Given the description of an element on the screen output the (x, y) to click on. 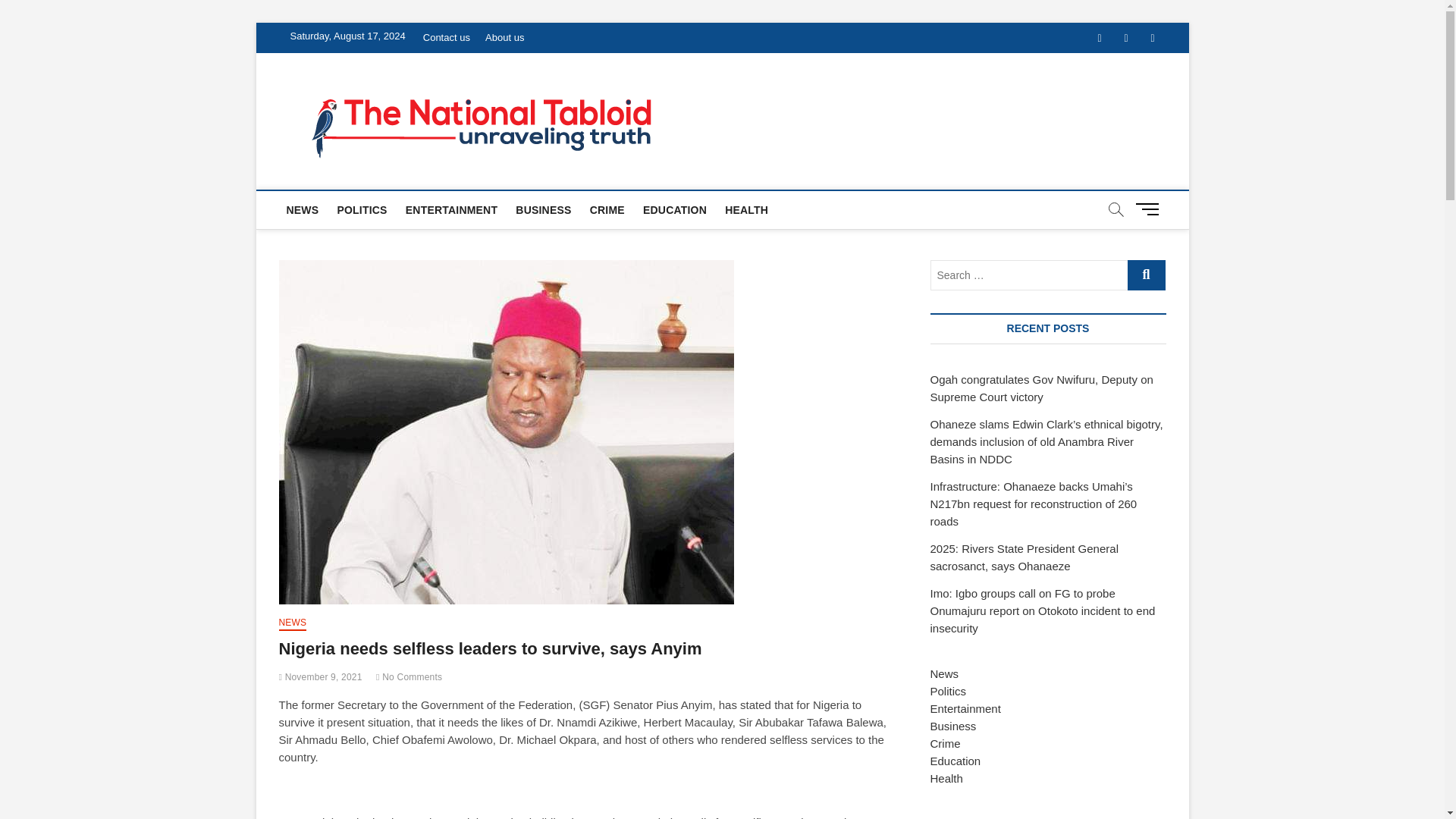
Twitter (1126, 38)
National Tabloid (772, 103)
Menu Button (1150, 208)
CRIME (606, 209)
Instagram (1152, 38)
NEWS (302, 209)
EDUCATION (674, 209)
HEALTH (746, 209)
